Given the description of an element on the screen output the (x, y) to click on. 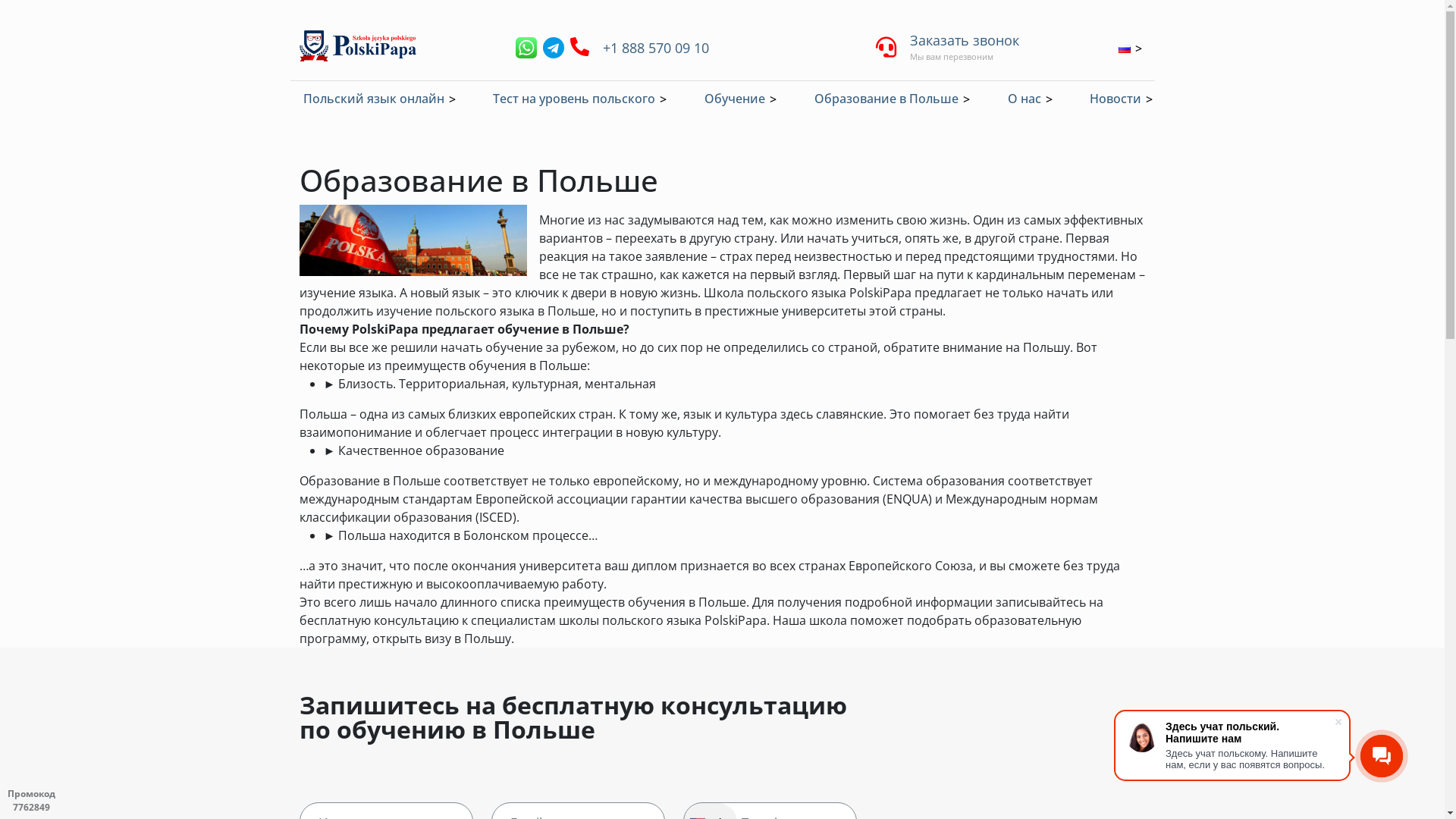
+1 888 570 09 10 Element type: text (655, 46)
